Given the description of an element on the screen output the (x, y) to click on. 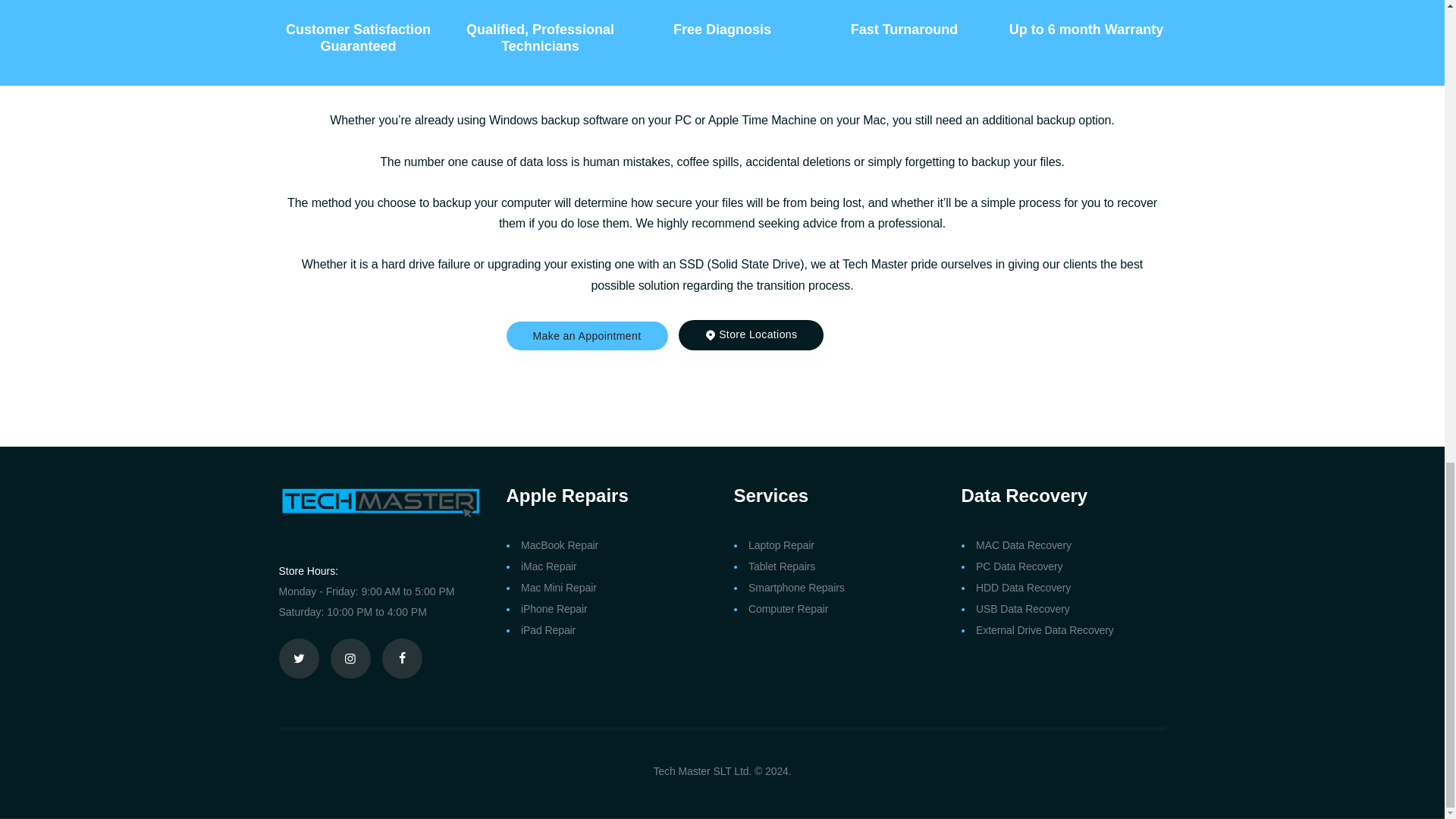
Make an Appointment (587, 335)
Store Locations (751, 335)
MAC Data Recovery (1023, 544)
PC Data Recovery (1018, 566)
Tablet Repairs (781, 566)
iPhone Repair (553, 608)
iPad Repair (548, 630)
iMac Repair (548, 566)
HDD Data Recovery (1022, 587)
Smartphone Repairs (796, 587)
